Given the description of an element on the screen output the (x, y) to click on. 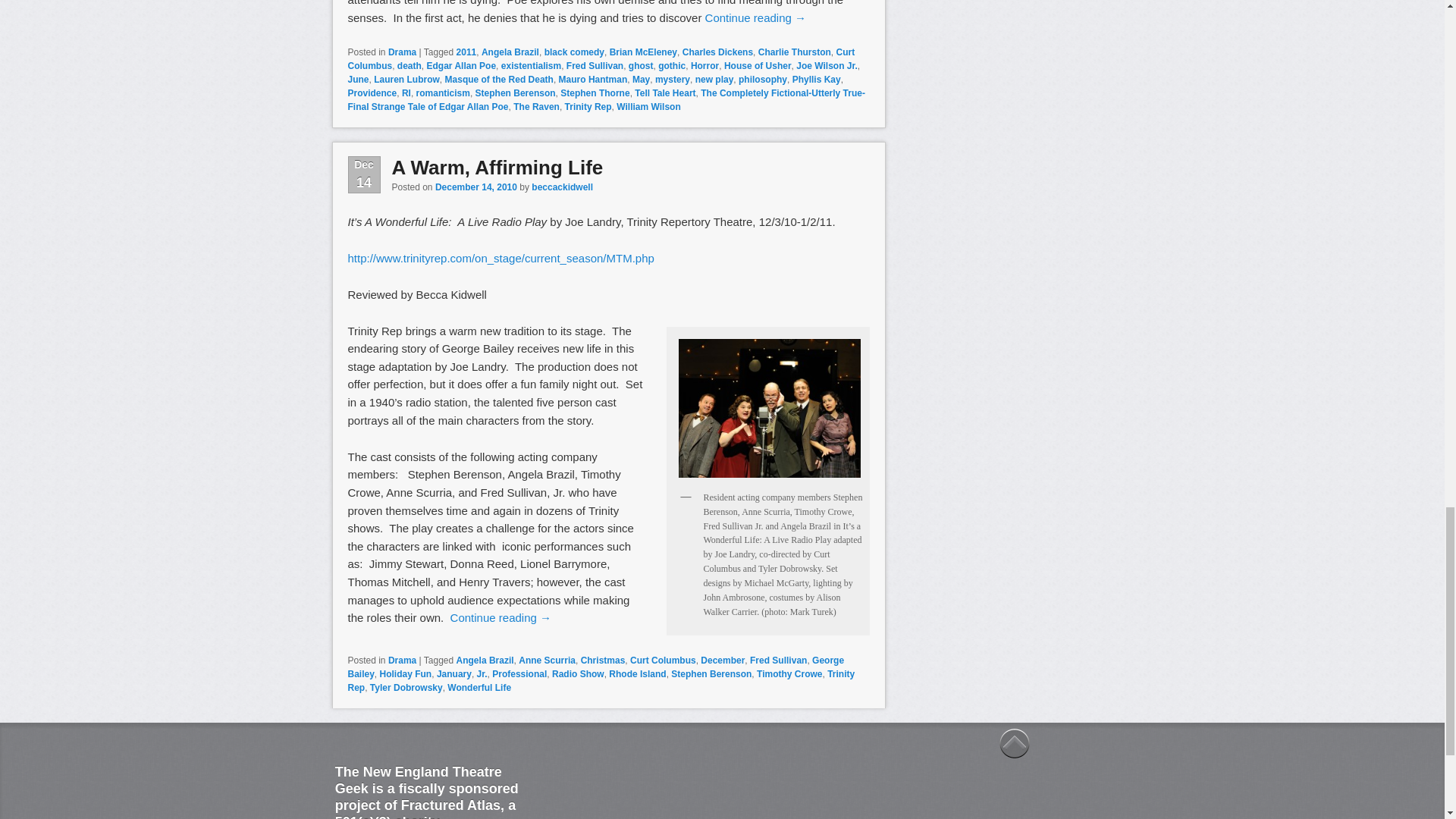
7:50 am (475, 186)
View all posts by beccackidwell (561, 186)
WL quintet (769, 408)
Permalink to A Warm, Affirming Life (496, 167)
